Given the description of an element on the screen output the (x, y) to click on. 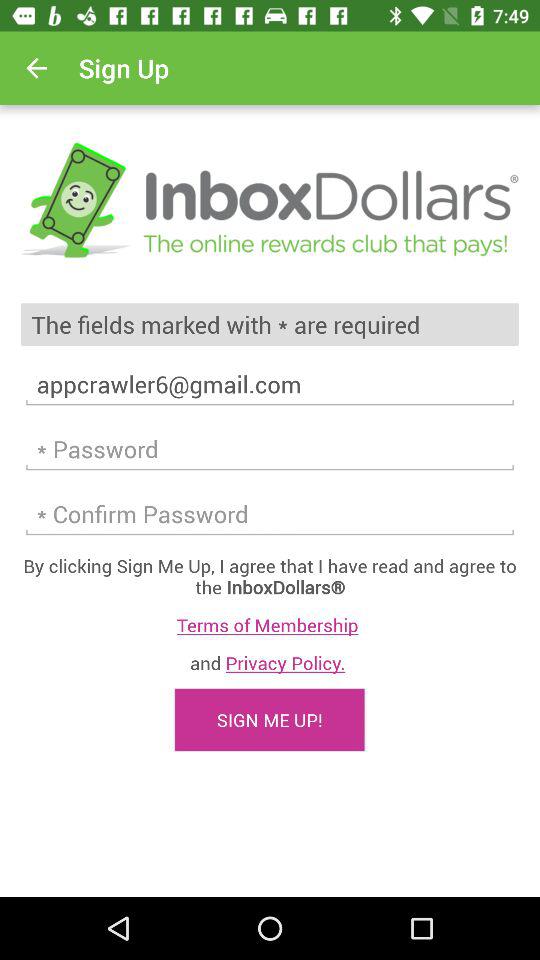
select appcrawler6@gmail.com item (270, 384)
